Given the description of an element on the screen output the (x, y) to click on. 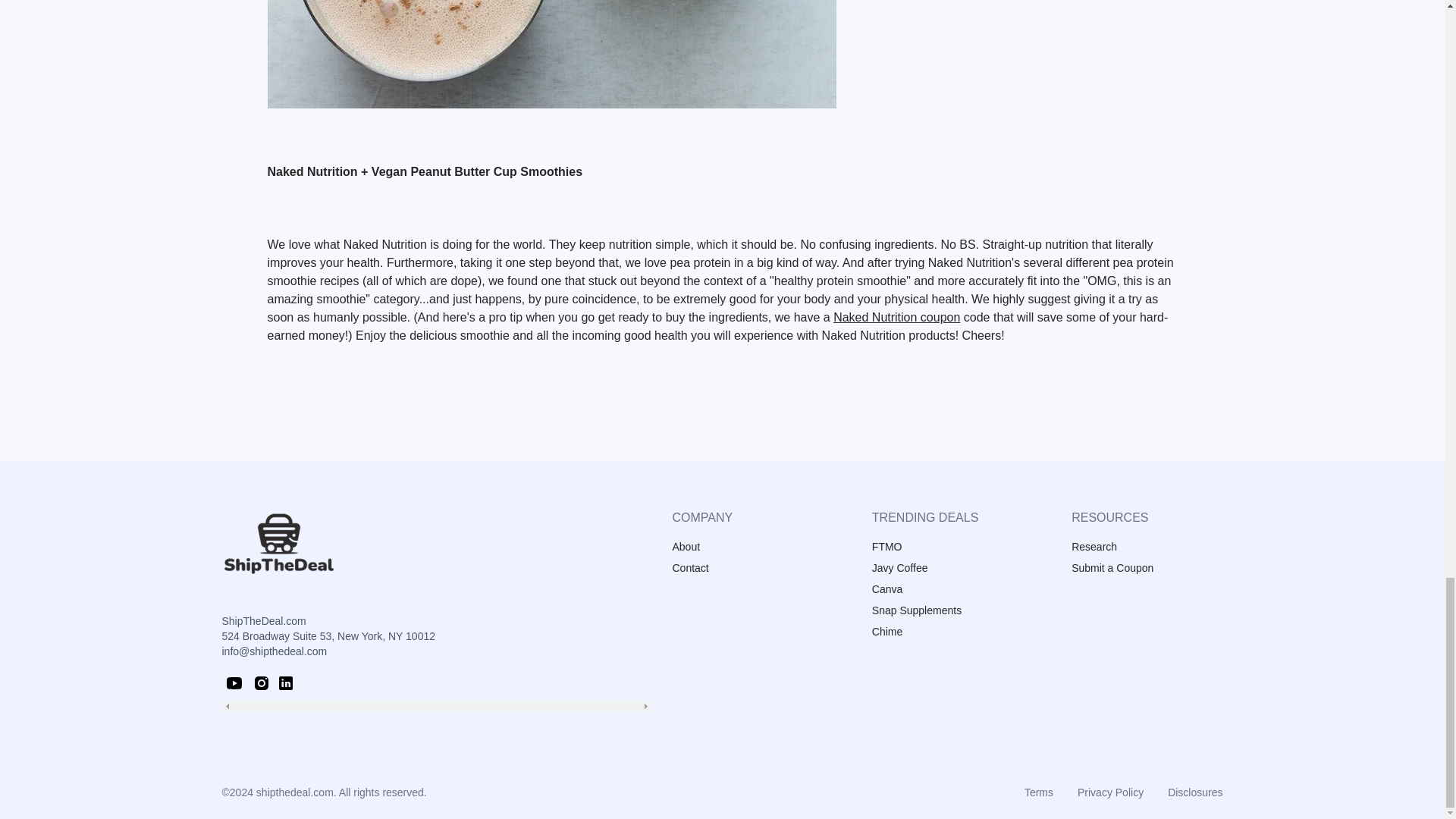
Privacy Policy (1109, 792)
Snap Supplements (916, 610)
Naked Nutrition coupon (895, 317)
Javy Coffee (900, 567)
Contact (689, 567)
Submit a Coupon (1112, 567)
Terms (1038, 792)
Chime (887, 631)
Canva (887, 589)
Research (1093, 546)
Disclosures (1195, 792)
FTMO (887, 546)
About (685, 546)
